Given the description of an element on the screen output the (x, y) to click on. 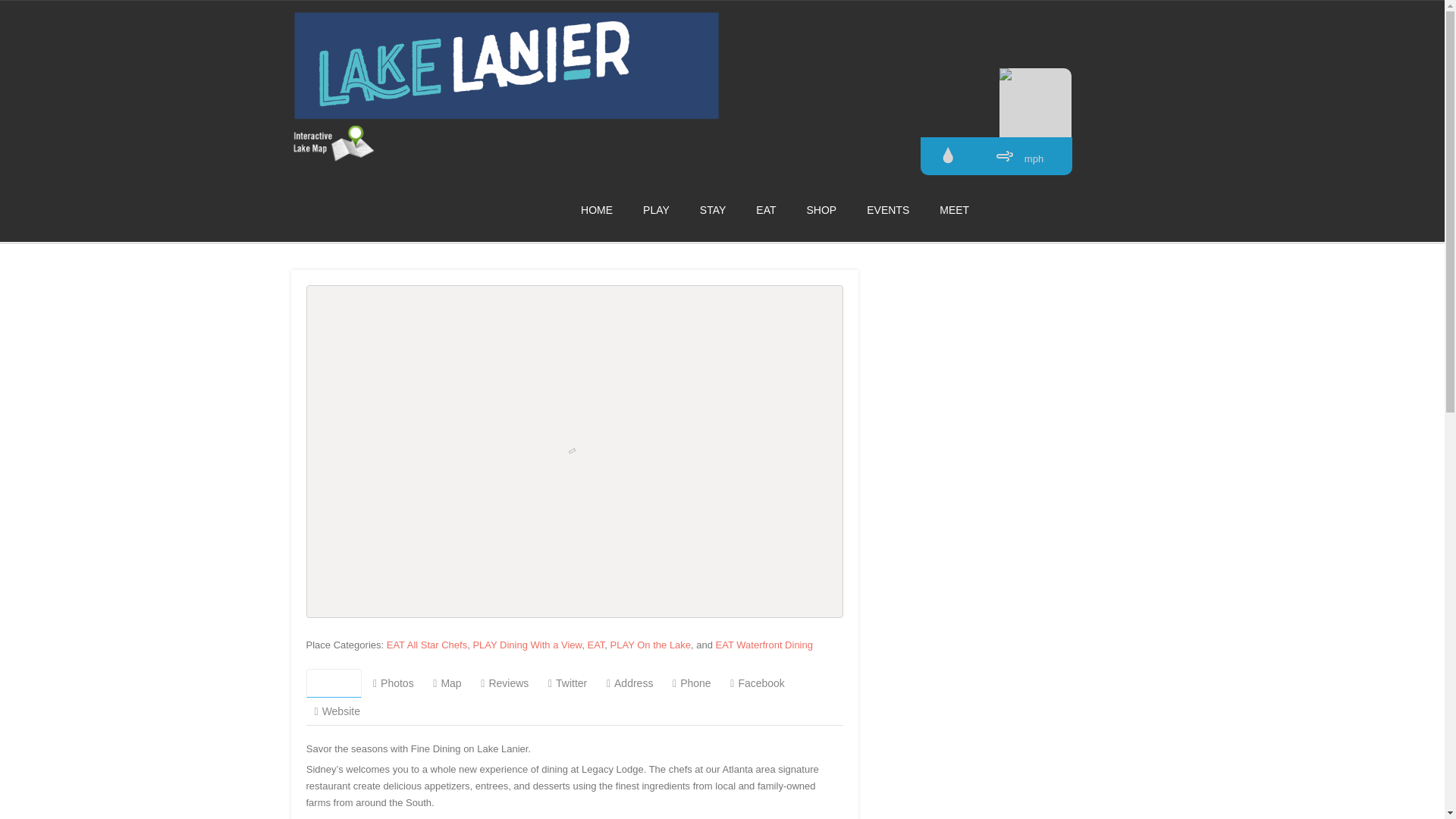
EAT (765, 209)
Discover Lake Lanier (506, 115)
STAY (713, 209)
EAT Waterfront Dining (764, 644)
PLAY Dining With a View (525, 644)
EVENTS (887, 209)
PLAY On the Lake (650, 644)
EAT All Star Chefs (427, 644)
Profile (333, 683)
HOME (596, 209)
